Given the description of an element on the screen output the (x, y) to click on. 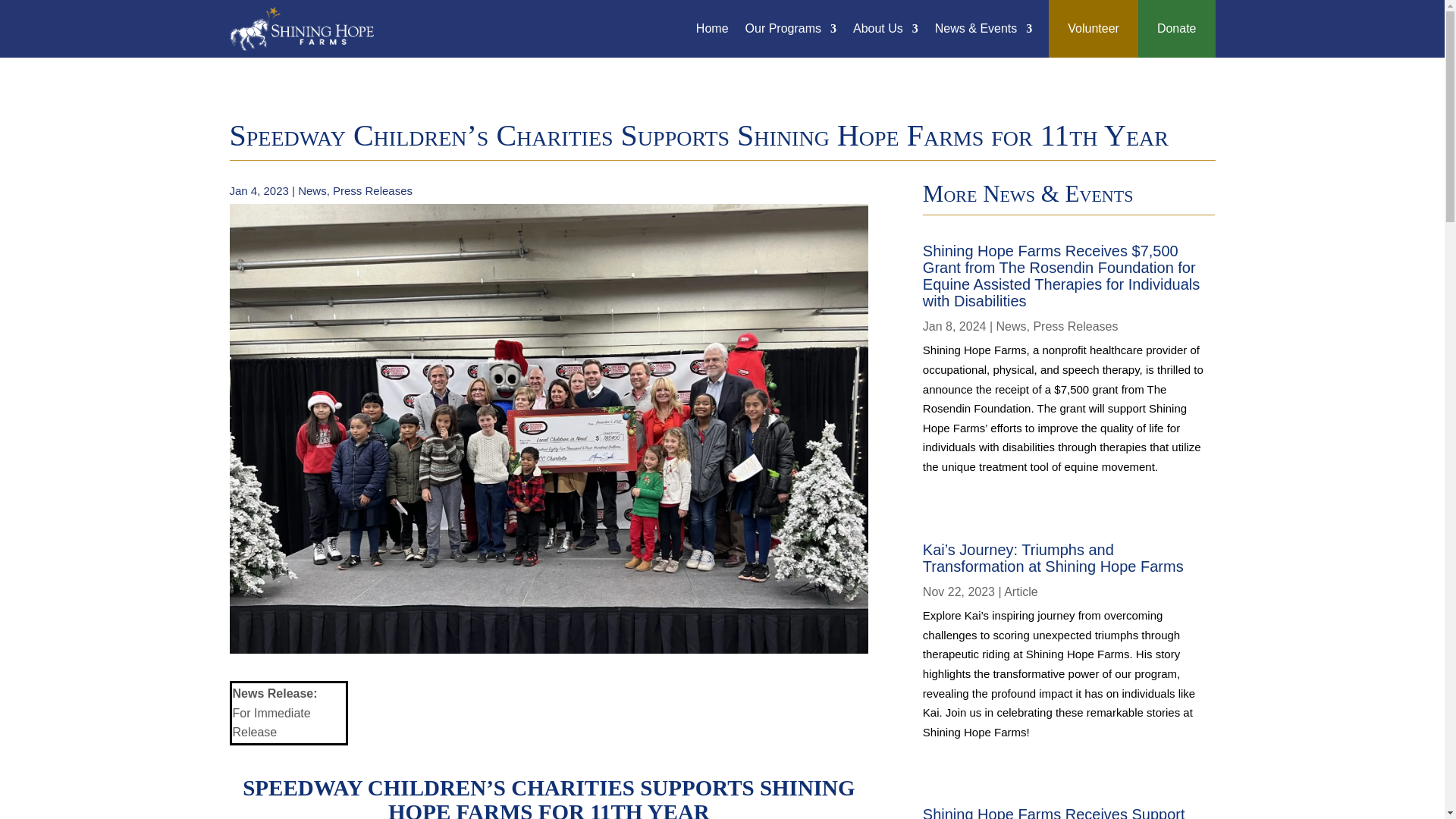
Our Programs (790, 28)
Volunteer (1093, 28)
Donate (1176, 28)
About Us (885, 28)
